Given the description of an element on the screen output the (x, y) to click on. 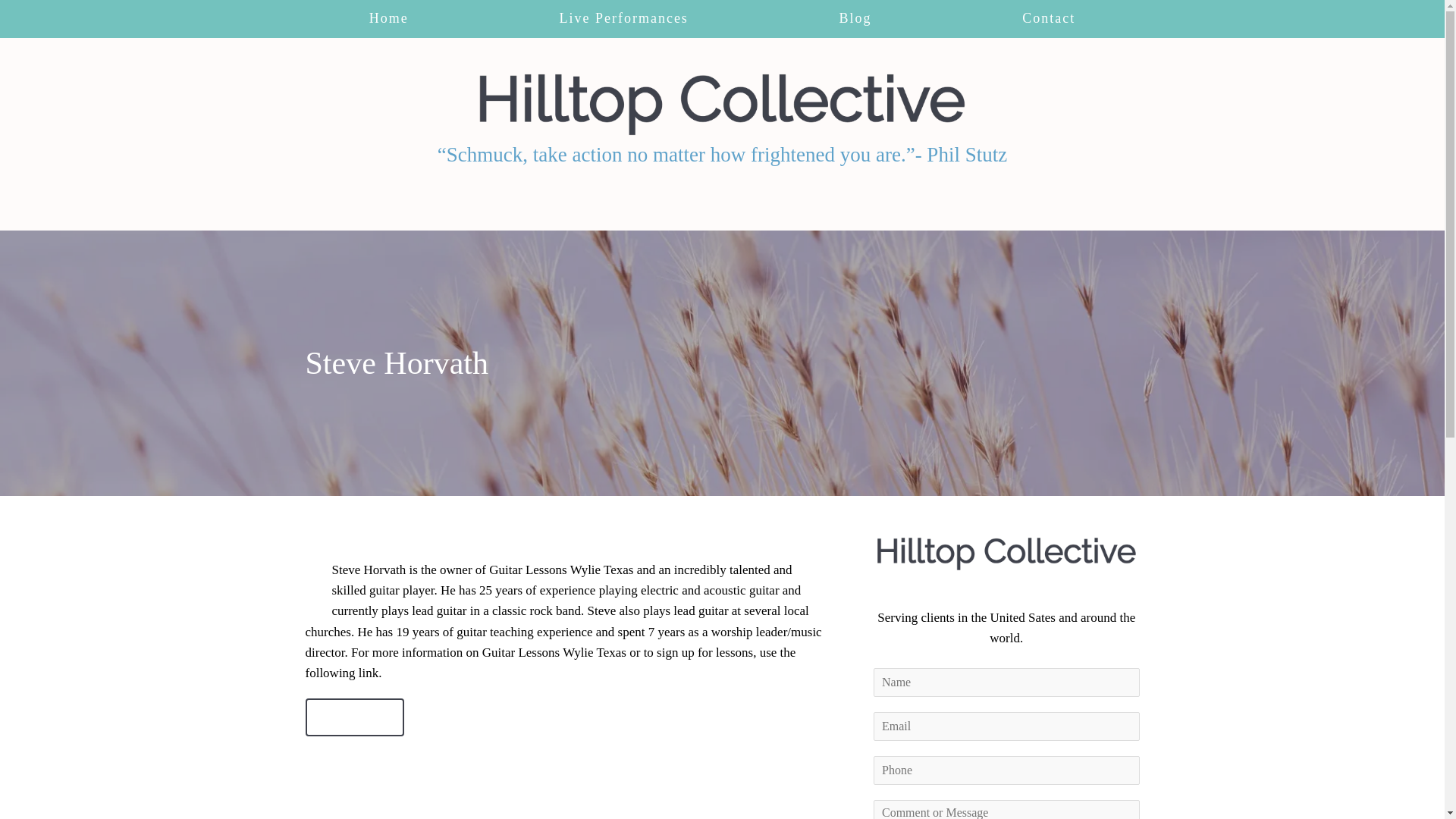
Live Performances (622, 18)
Contact (1049, 18)
Home (388, 18)
Blog (854, 18)
Contact (354, 717)
